Given the description of an element on the screen output the (x, y) to click on. 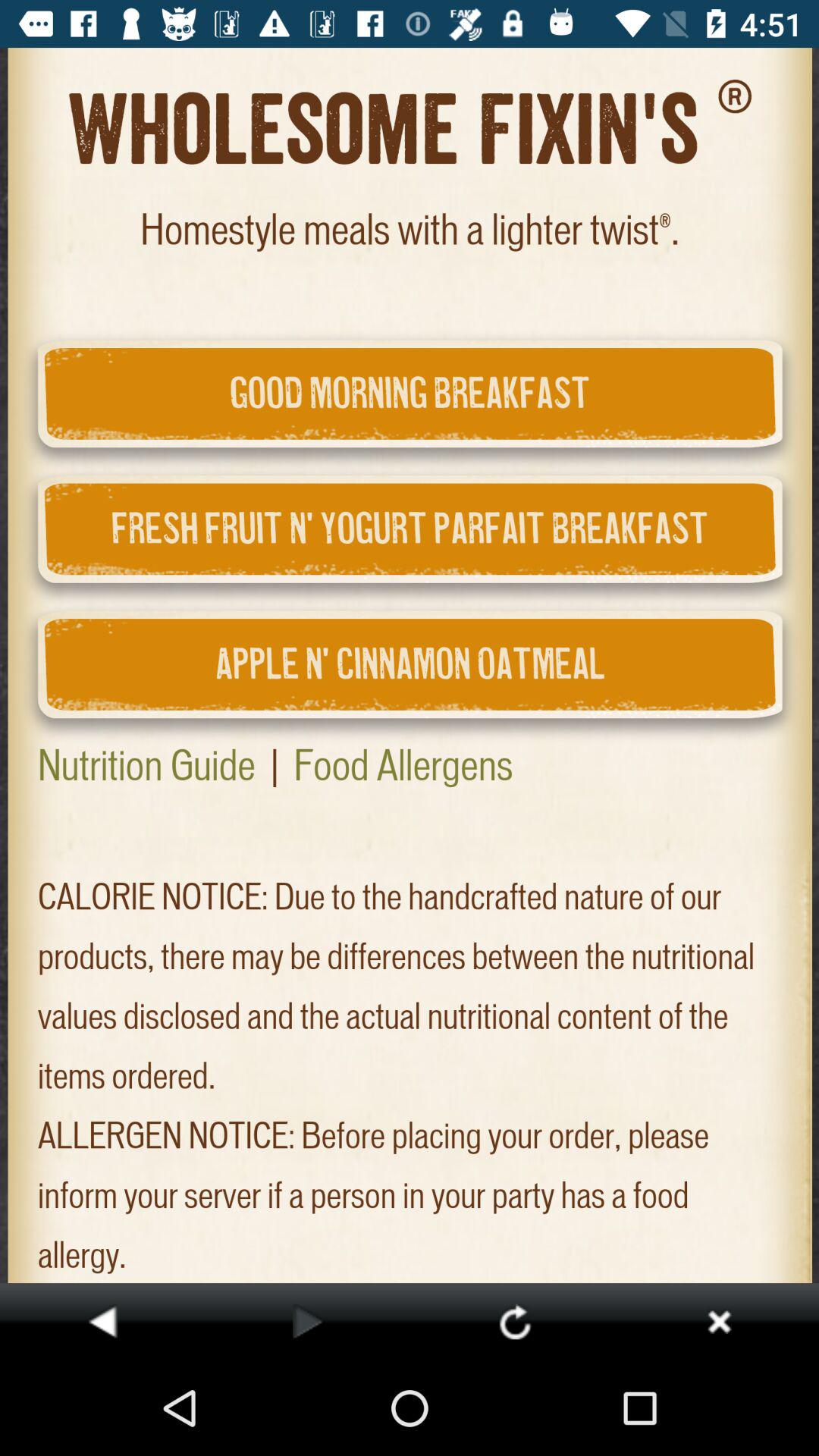
forward (307, 1321)
